Given the description of an element on the screen output the (x, y) to click on. 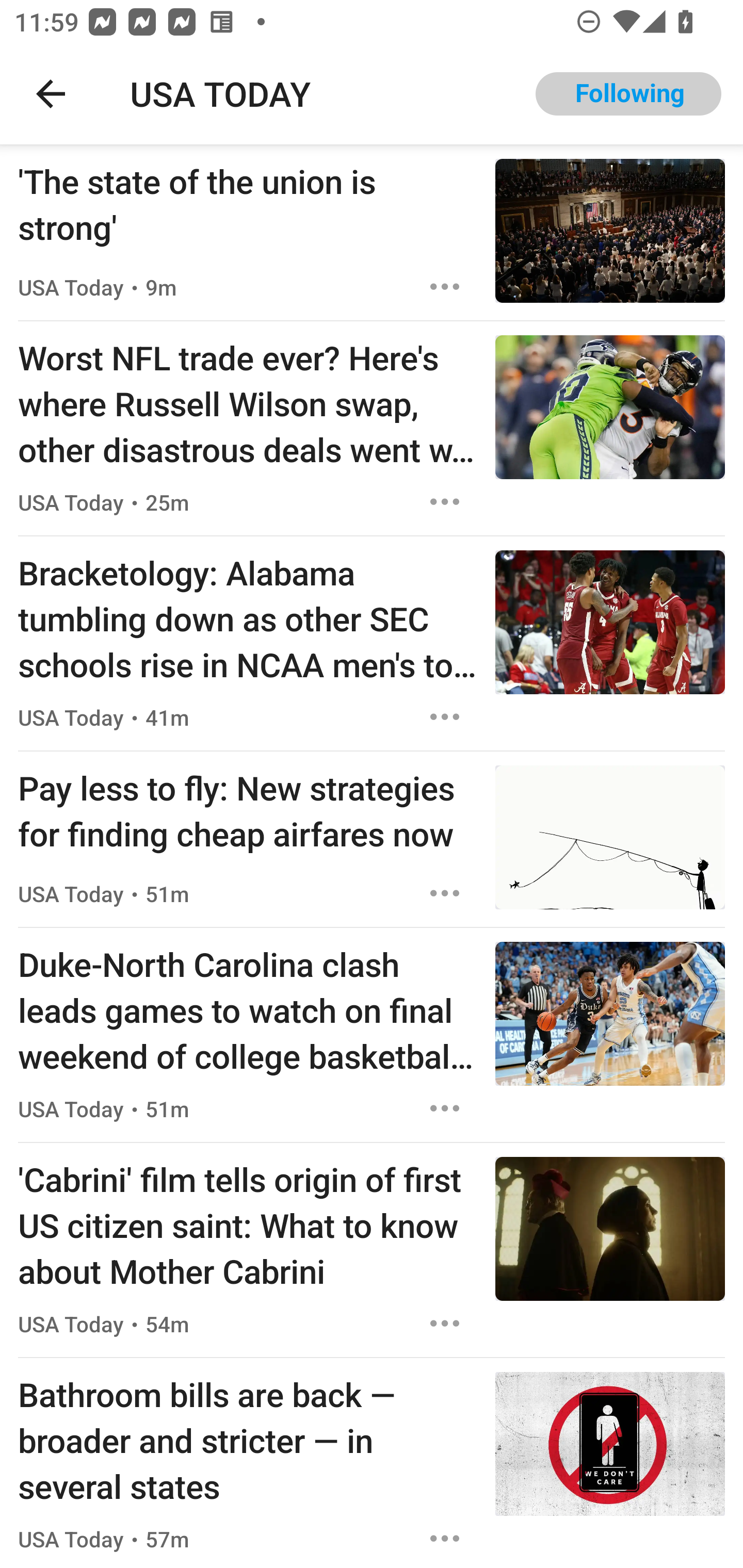
Navigate up (50, 93)
Following (628, 94)
Options (444, 286)
Options (444, 501)
Options (444, 716)
Options (444, 893)
Options (444, 1108)
Options (444, 1323)
Options (444, 1538)
